Given the description of an element on the screen output the (x, y) to click on. 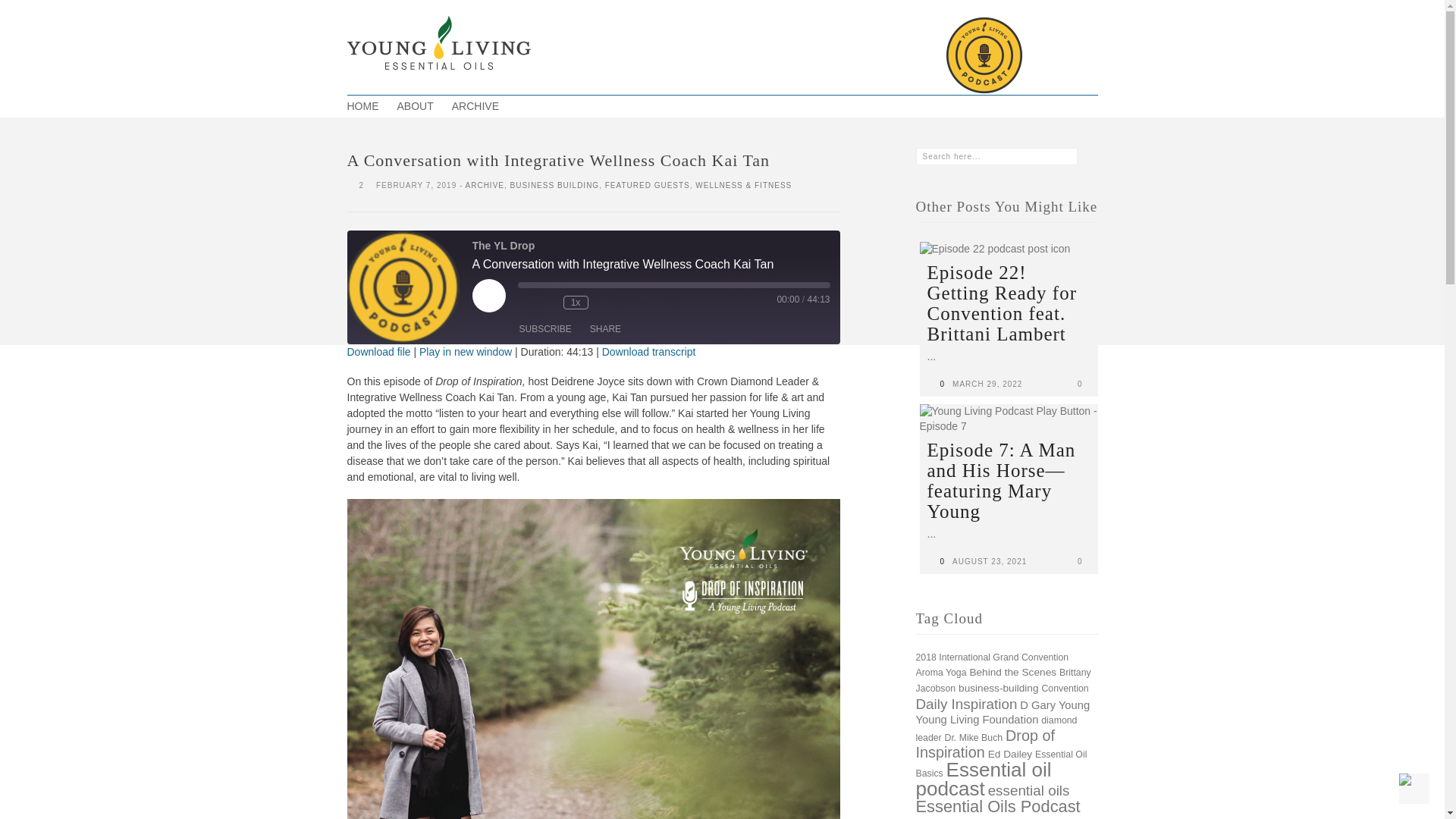
SUBSCRIBE (544, 328)
SHARE (605, 328)
Subscribe (544, 328)
1x (575, 302)
Share (605, 328)
ABOUT (415, 106)
The YL Drop (404, 286)
ARCHIVE (484, 184)
Play (488, 295)
Download file (378, 351)
Play in new window (465, 351)
BUSINESS BUILDING (555, 184)
Playback Speed (575, 302)
Play Episode (488, 295)
Fast Forward 30 seconds (603, 302)
